Given the description of an element on the screen output the (x, y) to click on. 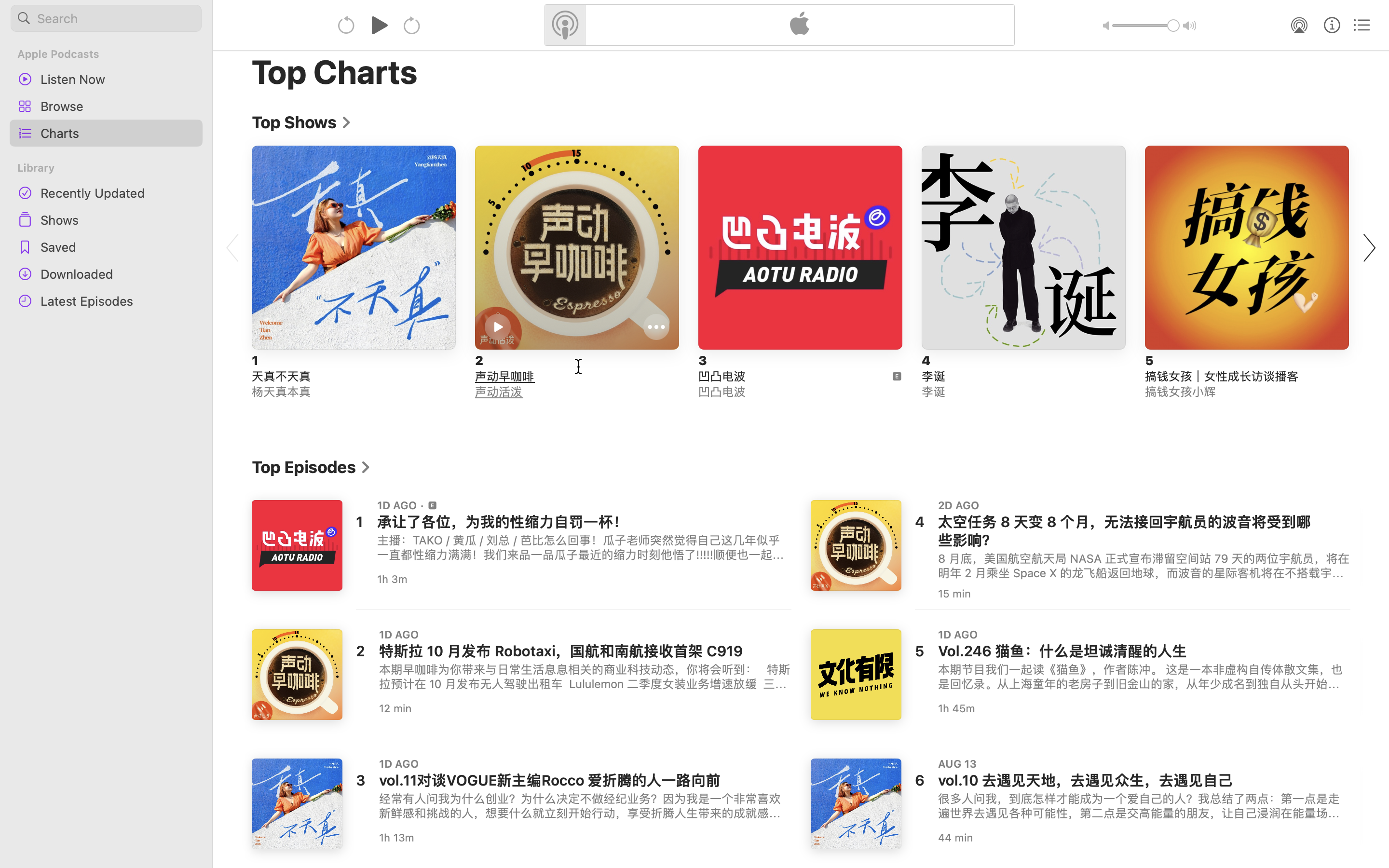
1.0 Element type: AXSlider (1145, 25)
